Given the description of an element on the screen output the (x, y) to click on. 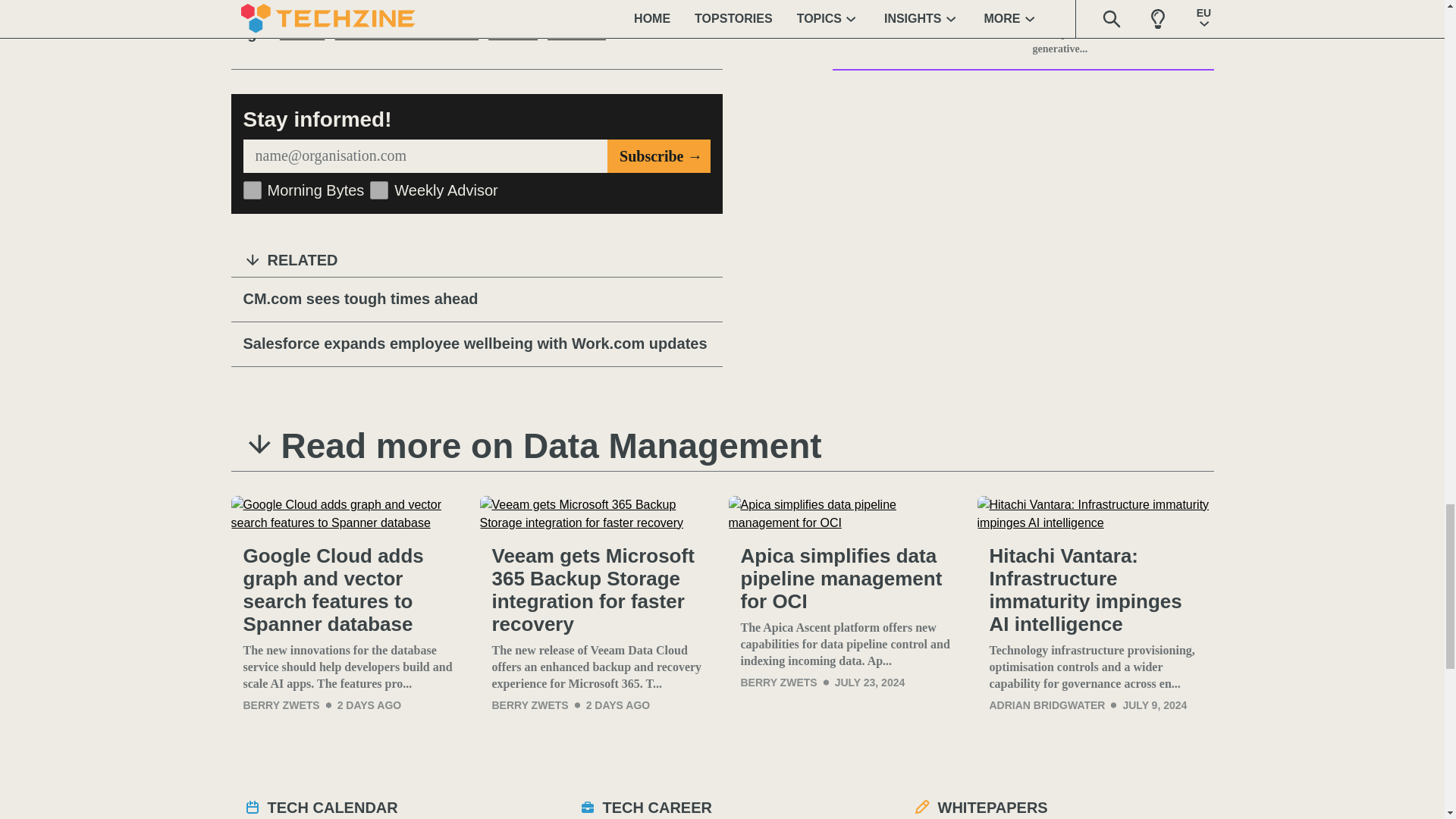
84623970802861205 (251, 189)
Salesforce expands employee wellbeing with Work.com updates (476, 343)
84623981521405447 (378, 189)
Apica simplifies data pipeline management for OCI (845, 514)
CM.com sees tough times ahead (476, 299)
